Given the description of an element on the screen output the (x, y) to click on. 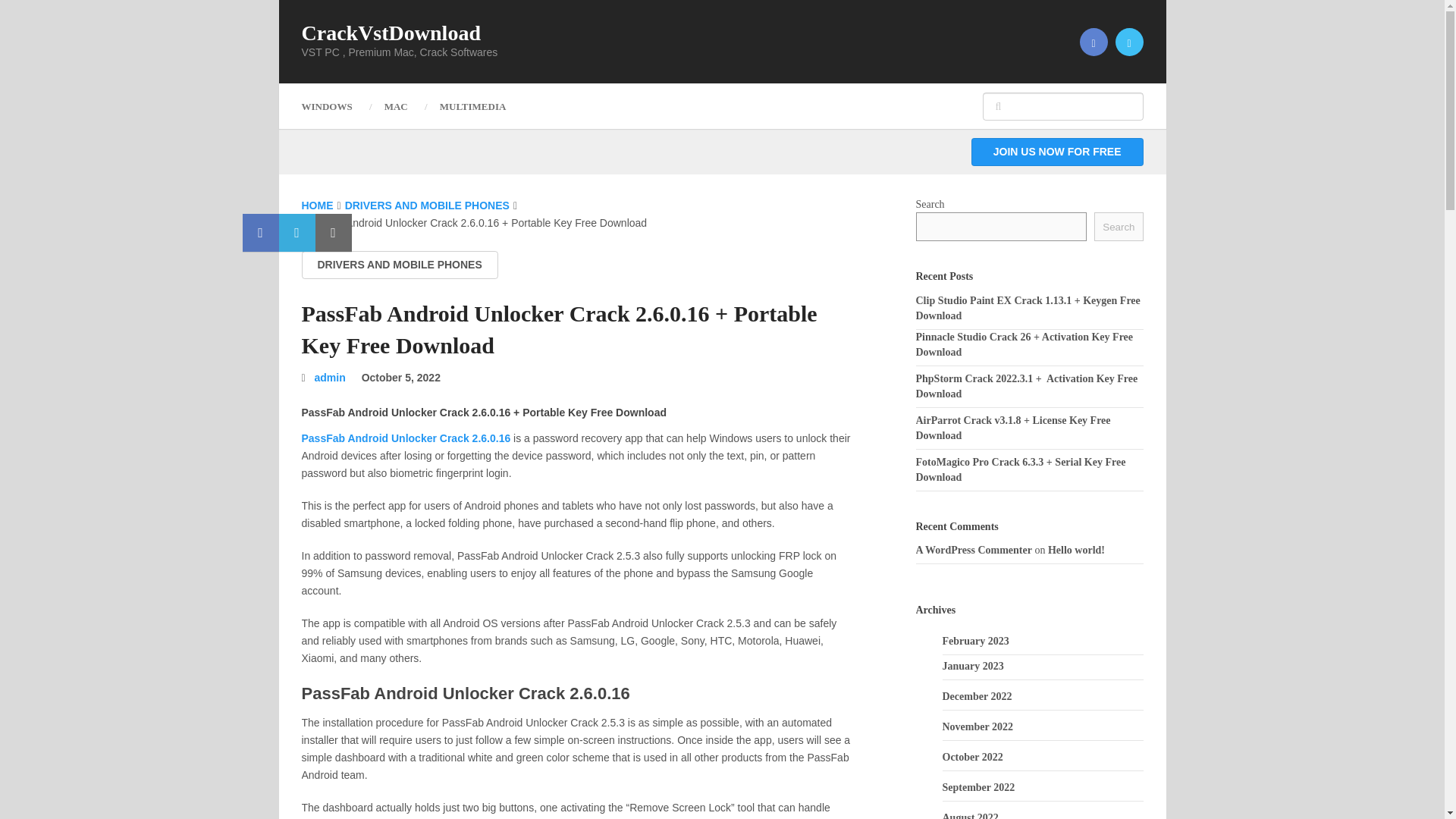
MULTIMEDIA (472, 105)
MAC (395, 105)
HOME (317, 205)
WINDOWS (334, 105)
JOIN US NOW FOR FREE (1056, 152)
Search (1118, 226)
Posts by admin (330, 377)
View all posts in Drivers and Mobile Phones (399, 264)
Join Us Now For Free (1056, 152)
CrackVstDownload (390, 33)
